Given the description of an element on the screen output the (x, y) to click on. 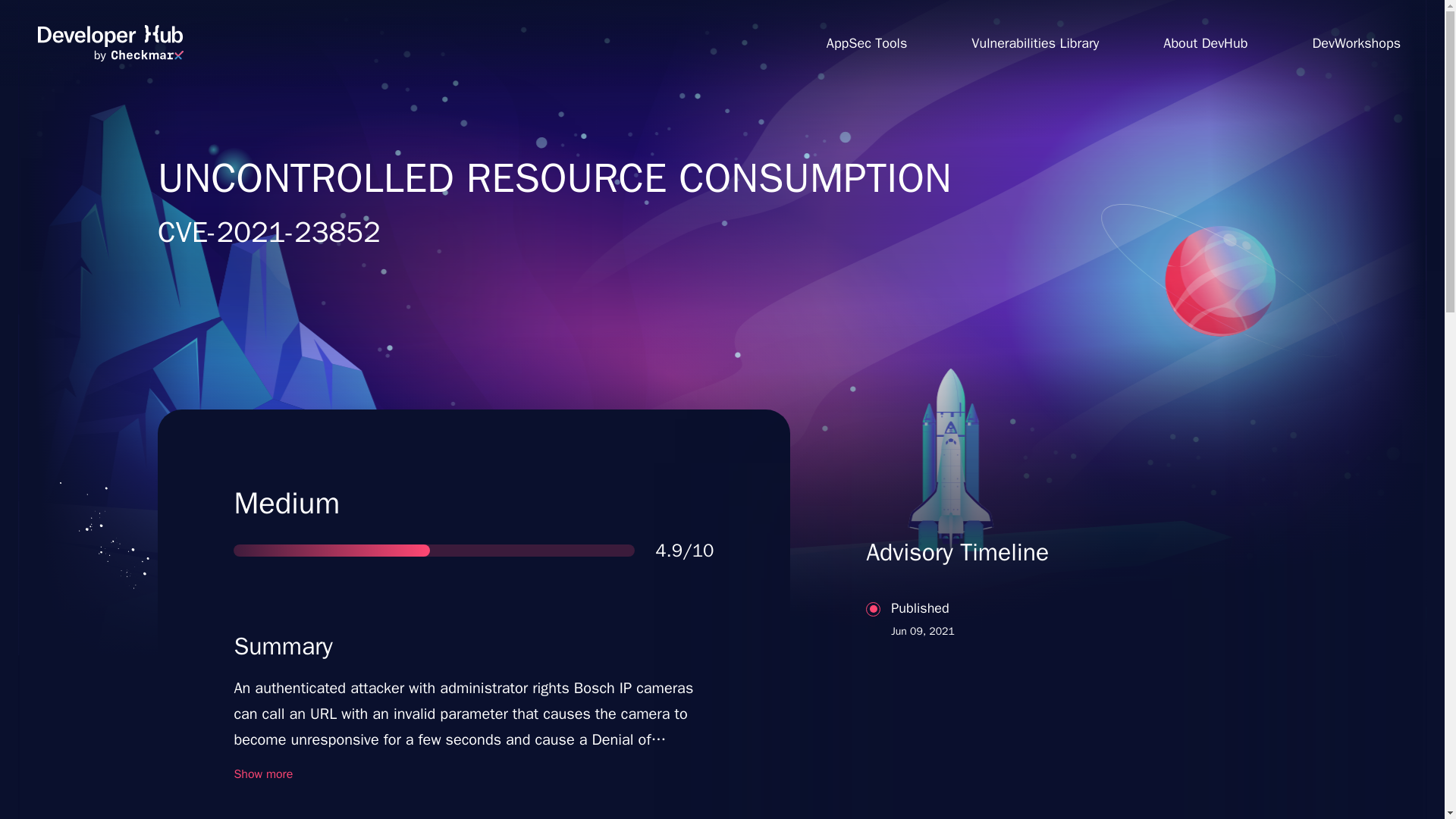
AppSec Tools (866, 43)
DevWorkshops (1356, 43)
Show more (262, 773)
Goto website home page (1037, 678)
About DevHub (110, 43)
Vulnerabilities Library (1205, 43)
